Given the description of an element on the screen output the (x, y) to click on. 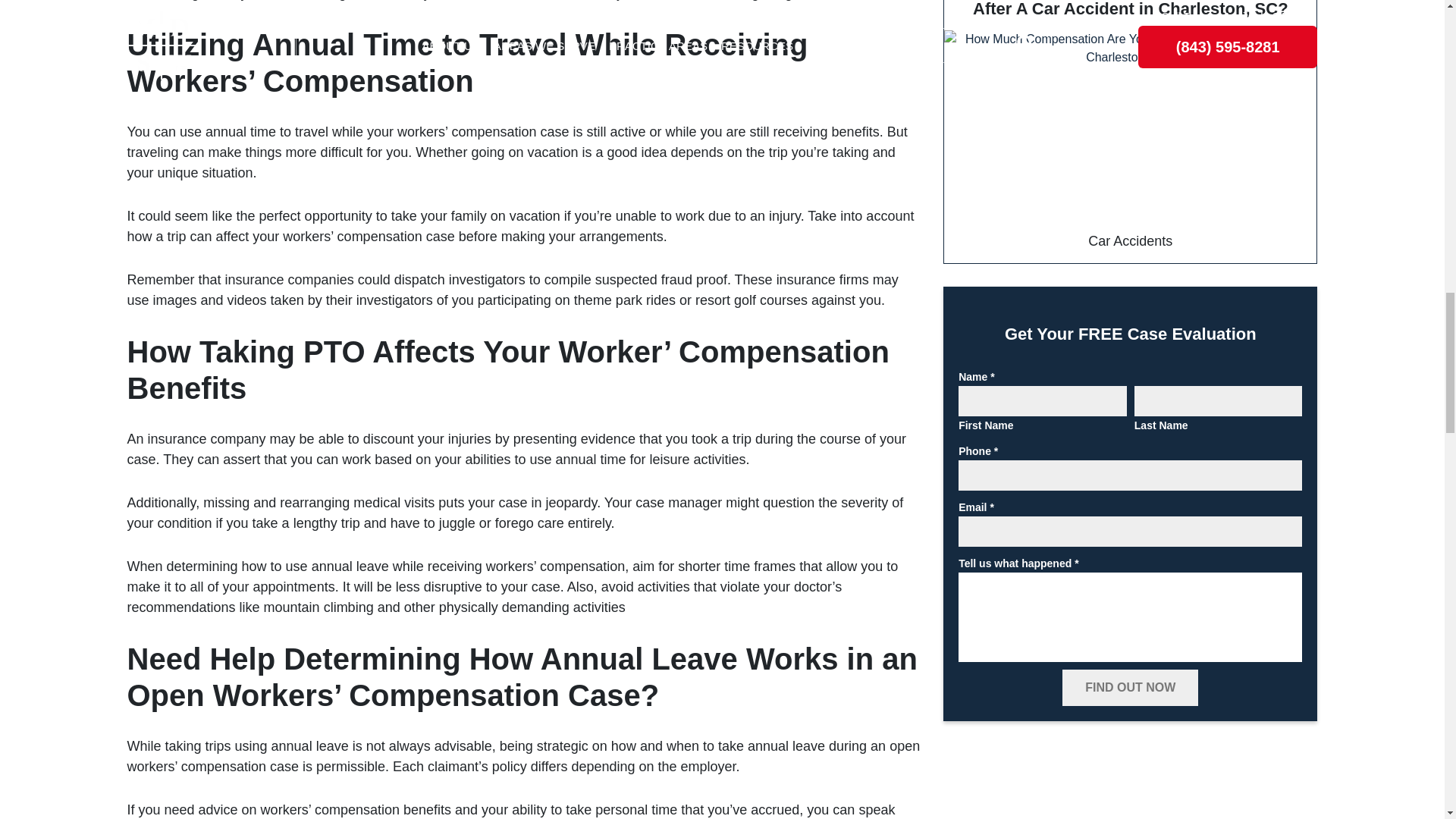
Find Out Now (1130, 687)
